Given the description of an element on the screen output the (x, y) to click on. 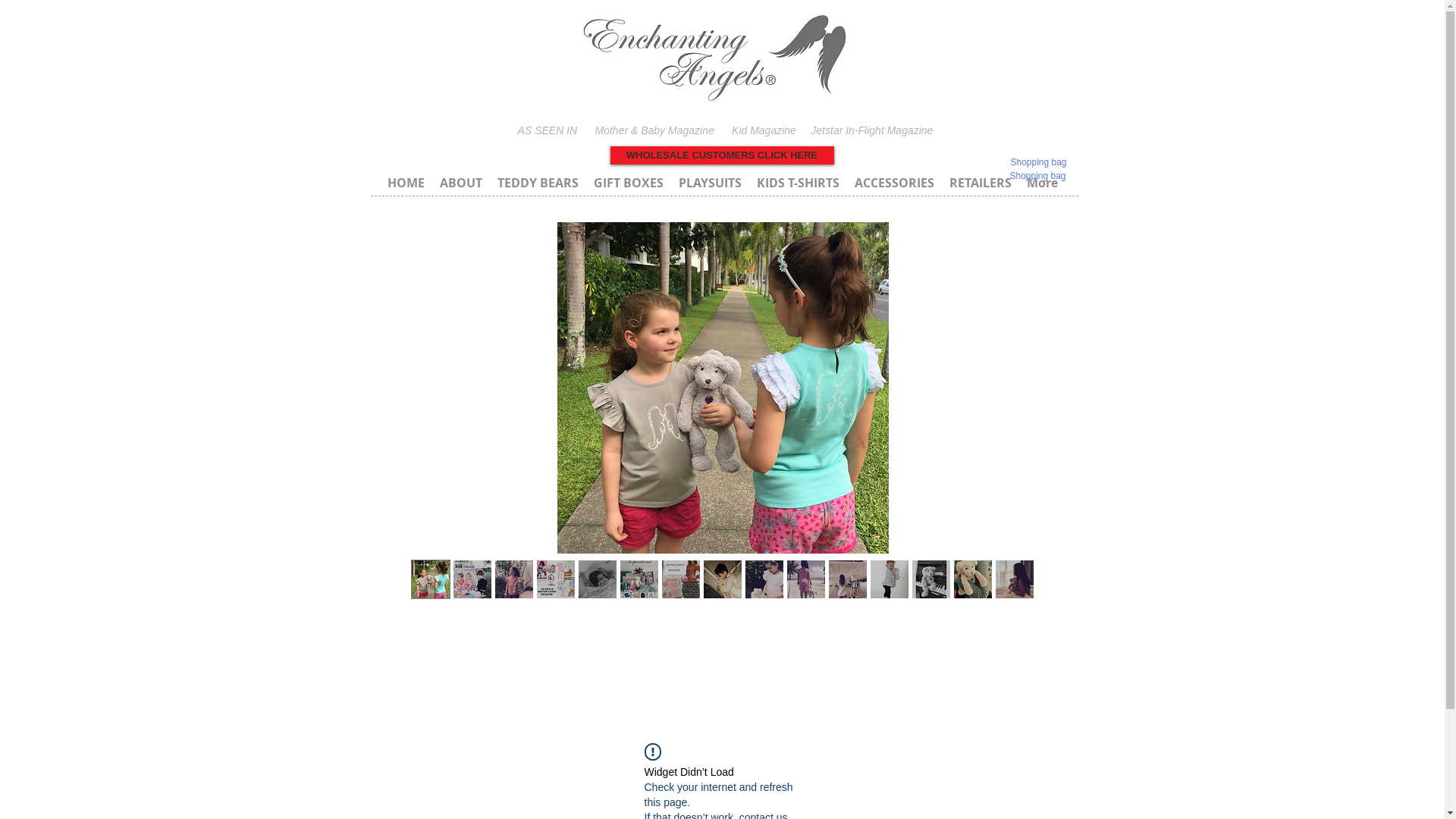
Enchanting Angels Element type: hover (715, 57)
RETAILERS Element type: text (980, 181)
WHOLESALE CUSTOMERS CLICK HERE Element type: text (721, 155)
ABOUT Element type: text (460, 181)
Shopping bag Element type: text (1036, 175)
Shopping bag Element type: text (1038, 162)
HOME Element type: text (405, 181)
